Given the description of an element on the screen output the (x, y) to click on. 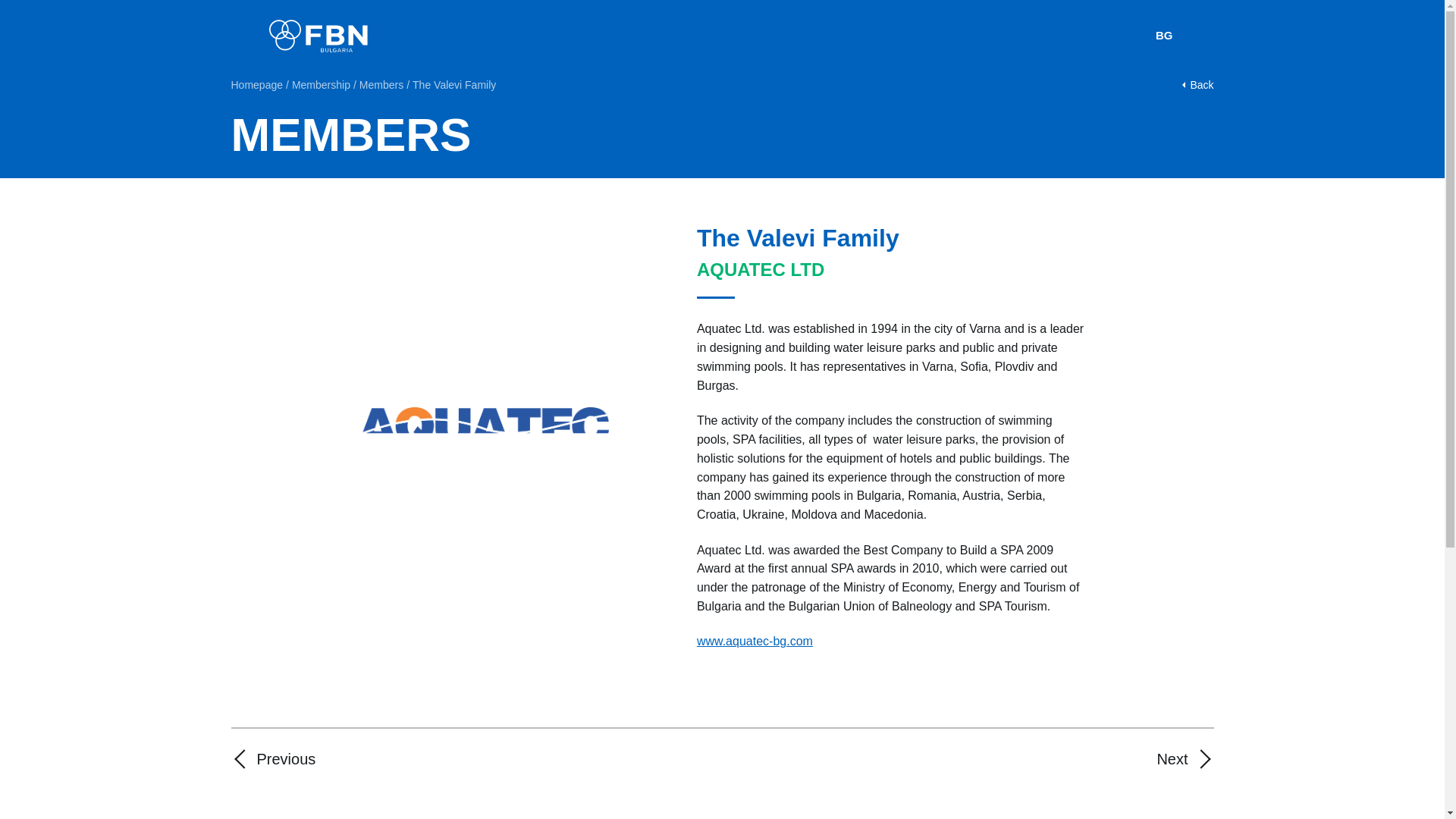
Membership (321, 84)
Members (381, 84)
Next (1184, 758)
FBN (316, 35)
The Valevi Family (454, 84)
Next (1184, 758)
Homepage (256, 84)
Back (1197, 84)
Members (381, 84)
Previous (272, 758)
The Valevi Family (454, 84)
Membership (321, 84)
Homepage (256, 84)
BG (1164, 35)
Back (1197, 84)
